Given the description of an element on the screen output the (x, y) to click on. 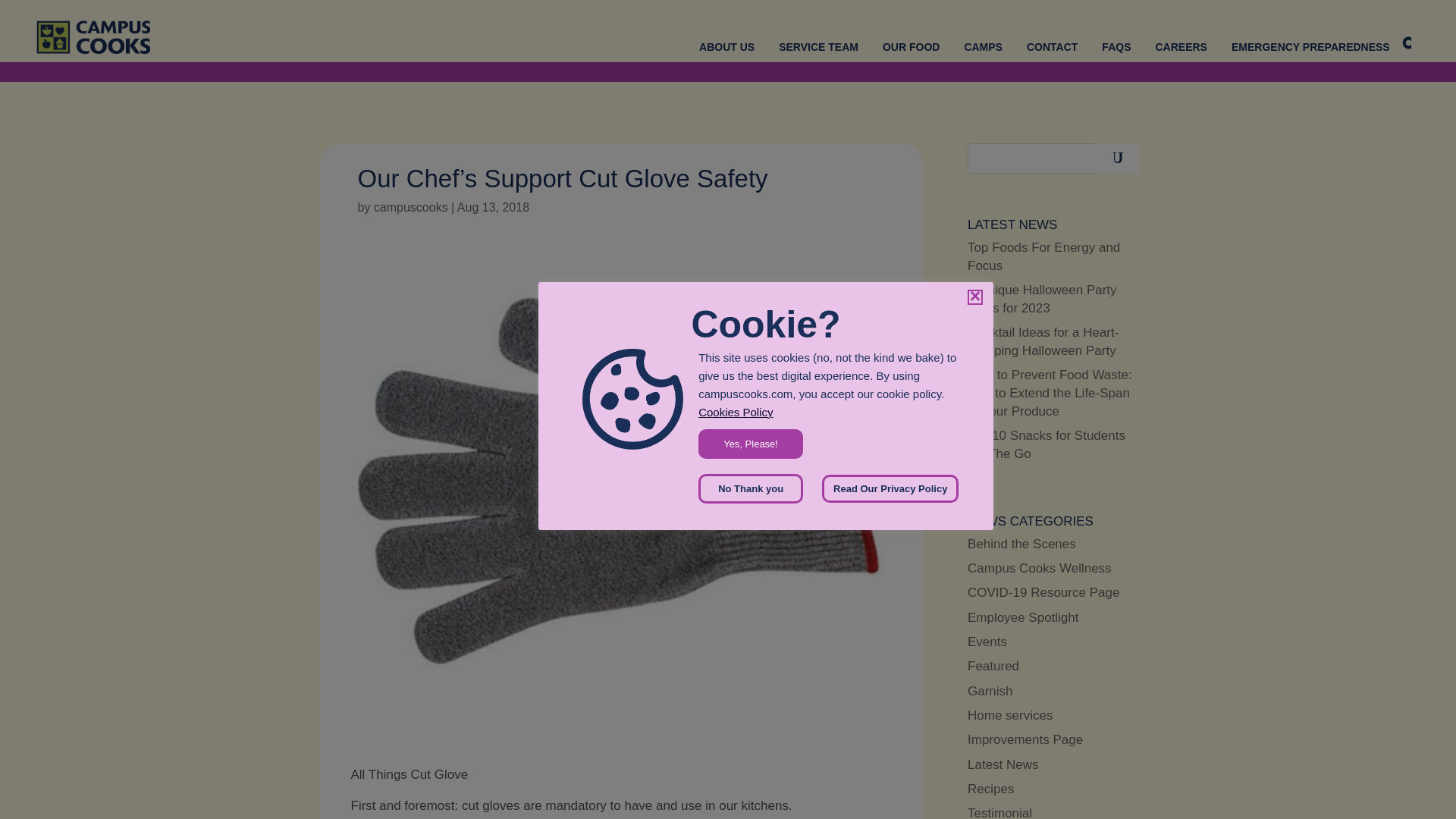
CAMPS (983, 47)
Close and Accept (975, 296)
ABOUT US (726, 47)
OUR FOOD (910, 47)
CAREERS (1180, 47)
CONTACT (1051, 47)
FAQS (1116, 47)
EMERGENCY PREPAREDNESS (1310, 47)
SERVICE TEAM (818, 47)
Posts by campuscooks (411, 206)
Search (1117, 158)
